Given the description of an element on the screen output the (x, y) to click on. 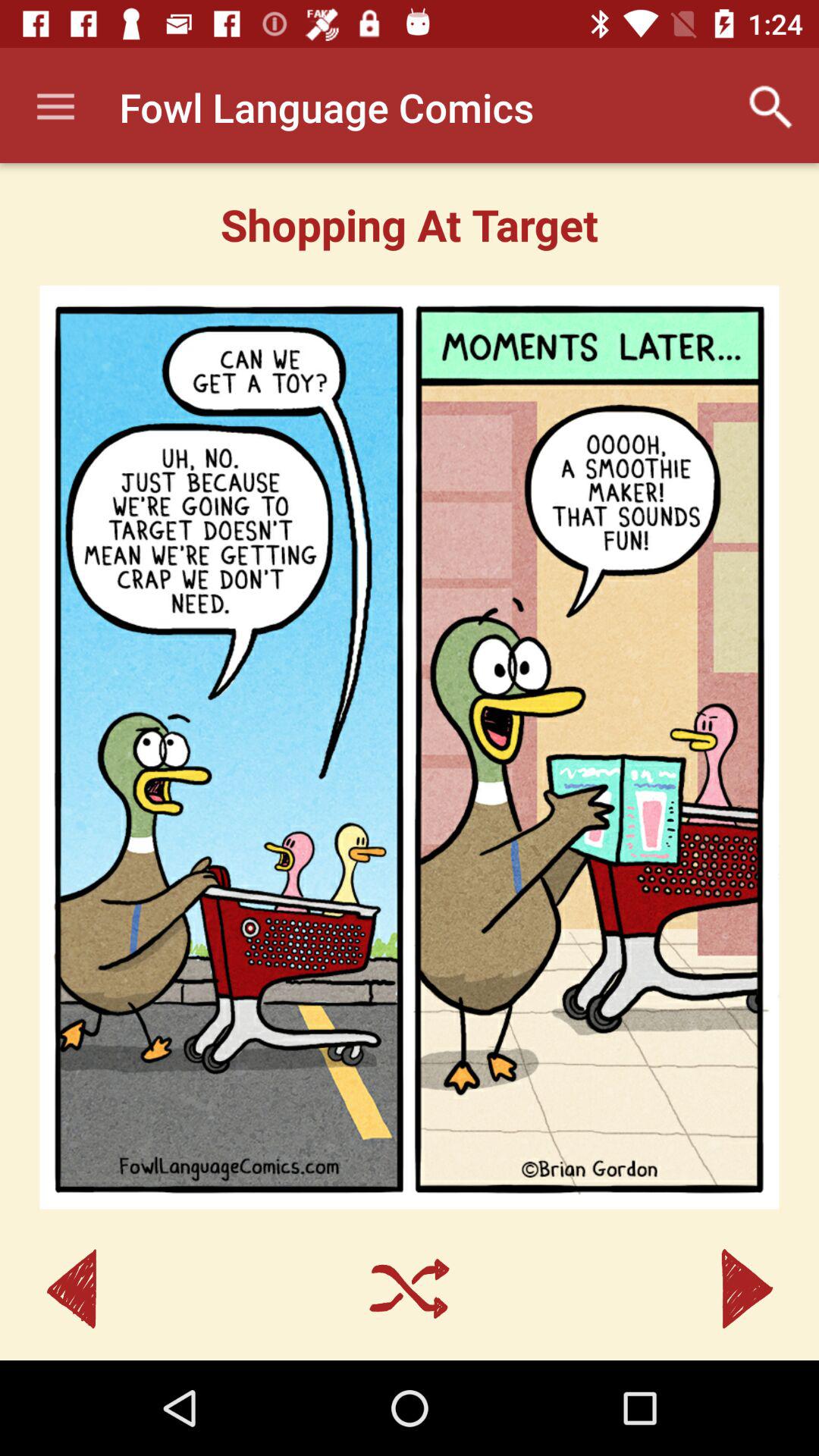
open item at the top right corner (771, 107)
